Given the description of an element on the screen output the (x, y) to click on. 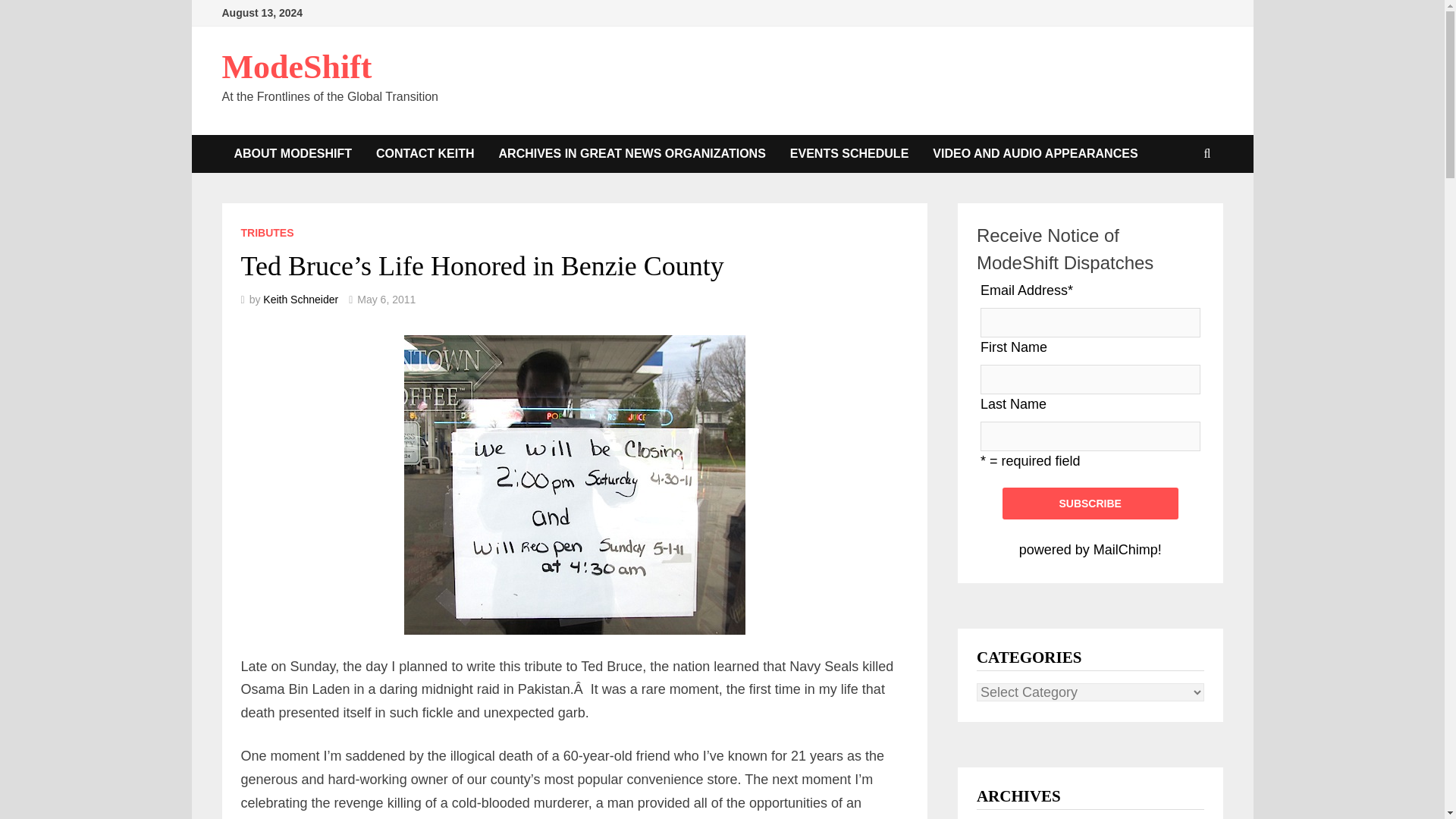
ARCHIVES IN GREAT NEWS ORGANIZATIONS (631, 153)
EVENTS SCHEDULE (848, 153)
stapleton's corner store and Ted Bruce (574, 484)
MailChimp (1125, 549)
TRIBUTES (267, 232)
Subscribe (1090, 503)
May 6, 2011 (385, 299)
ModeShift (296, 66)
VIDEO AND AUDIO APPEARANCES (1035, 153)
CONTACT KEITH (425, 153)
